Given the description of an element on the screen output the (x, y) to click on. 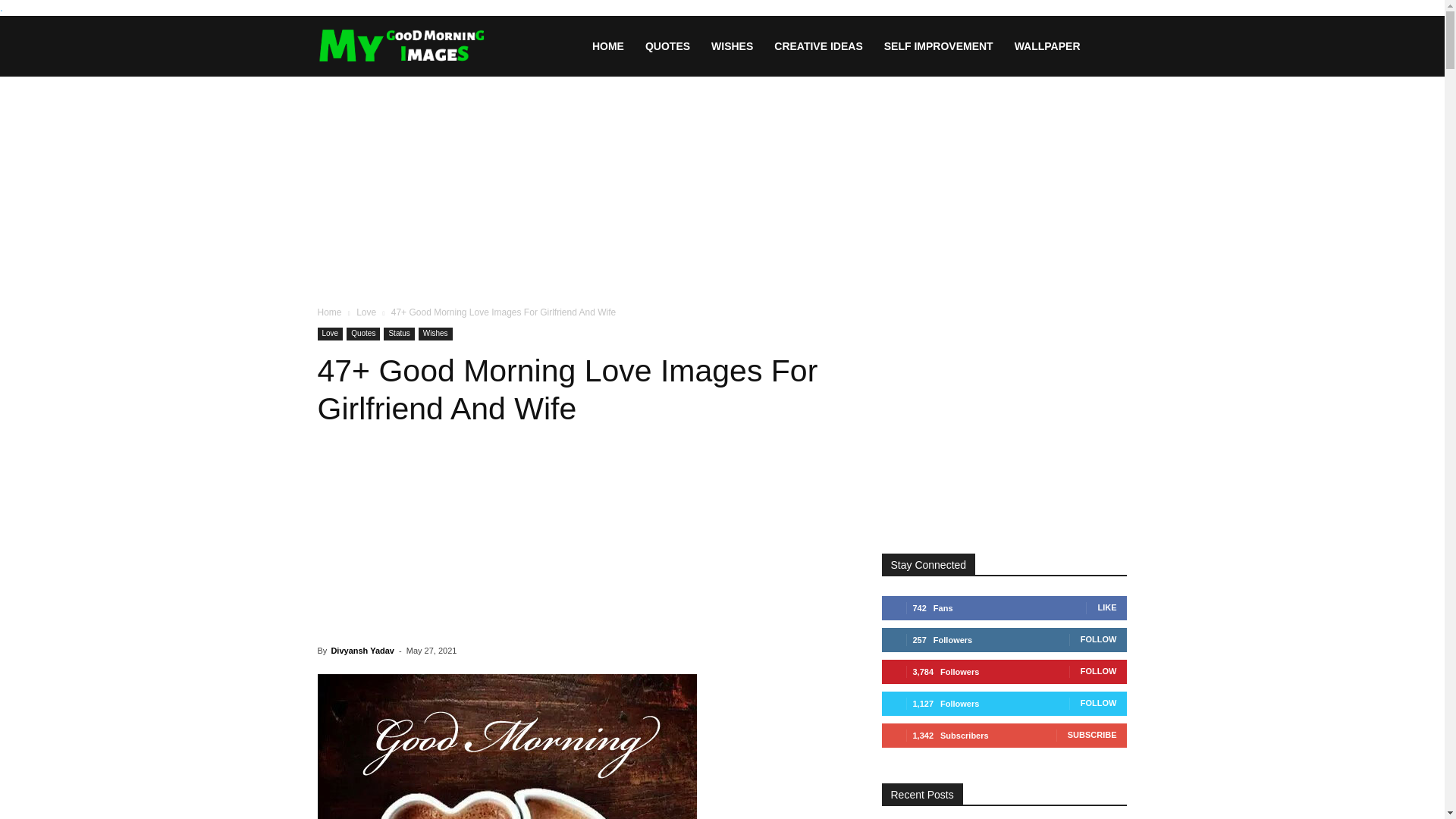
WISHES (731, 45)
View all posts in Love (365, 312)
WALLPAPER (1047, 45)
Love (365, 312)
My Good Morning Images (401, 46)
QUOTES (667, 45)
Advertisement (580, 539)
CREATIVE IDEAS (817, 45)
Home (328, 312)
SELF IMPROVEMENT (938, 45)
